Given the description of an element on the screen output the (x, y) to click on. 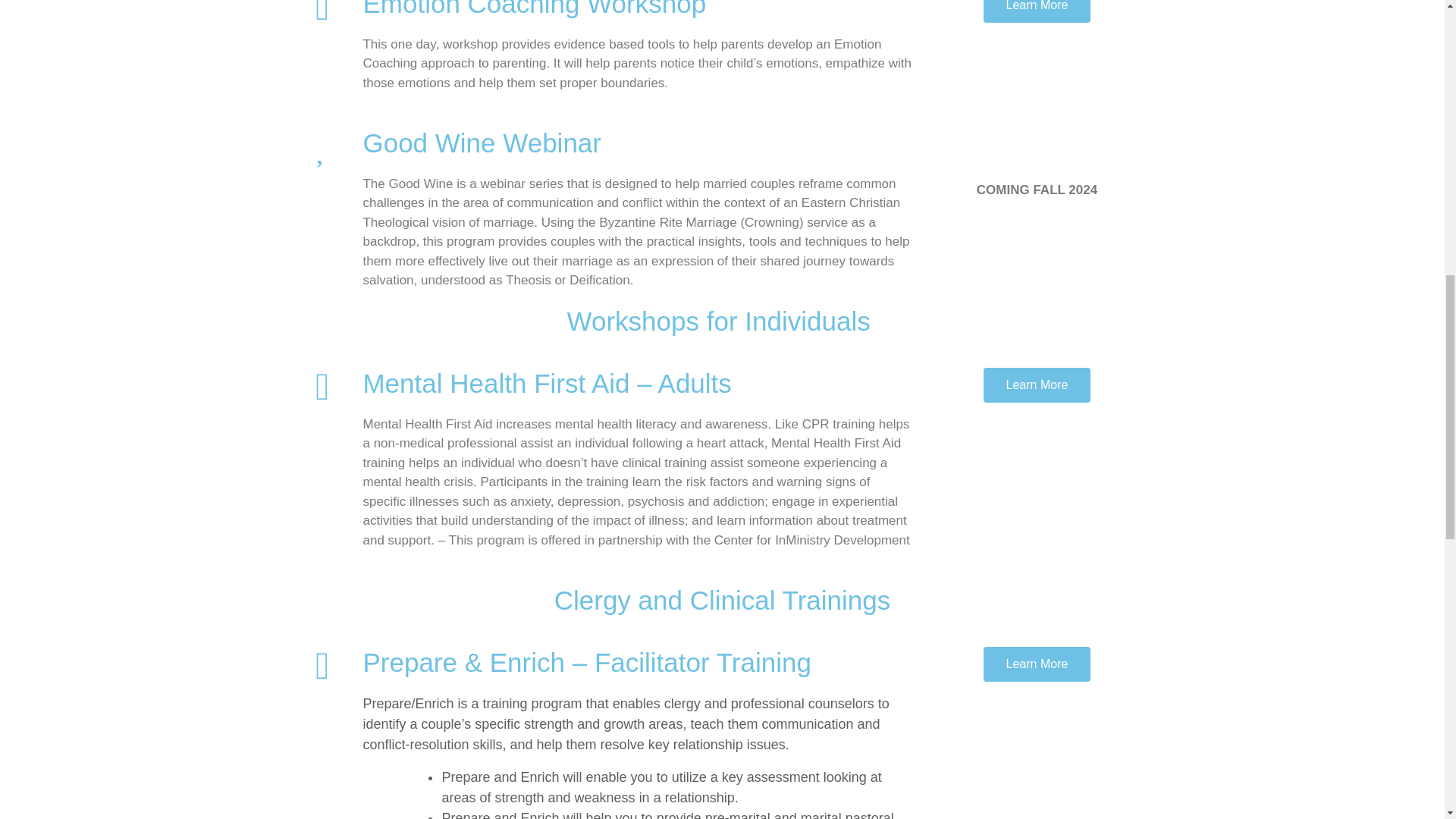
Learn More (1037, 663)
Learn More (1037, 384)
Learn More (1037, 11)
Emotion Coaching Workshop (534, 8)
